Given the description of an element on the screen output the (x, y) to click on. 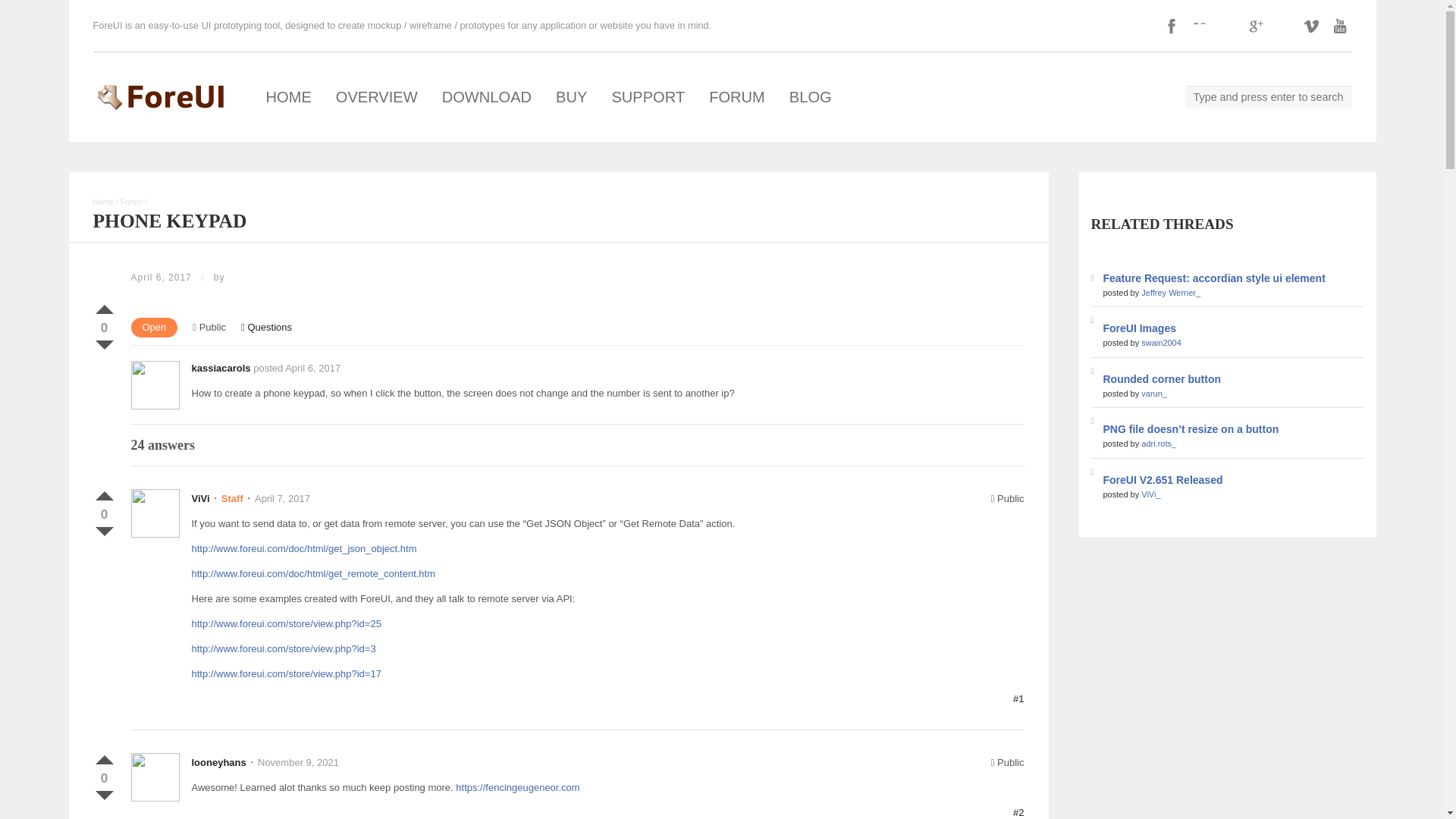
VOTE DOWN (104, 341)
Posts by ViVi (199, 498)
posted April 6, 2017 (296, 367)
GitHub2 (1226, 25)
Twitter (1283, 25)
Vimeo (1311, 25)
Vote Up (104, 492)
VOTE UP (104, 305)
Forum (131, 202)
kassiacarols (220, 367)
Home (103, 202)
All questions from Questions (266, 326)
VOTE DOWN (104, 528)
Vote Down (104, 341)
Posts by kassiacarols (220, 367)
